Given the description of an element on the screen output the (x, y) to click on. 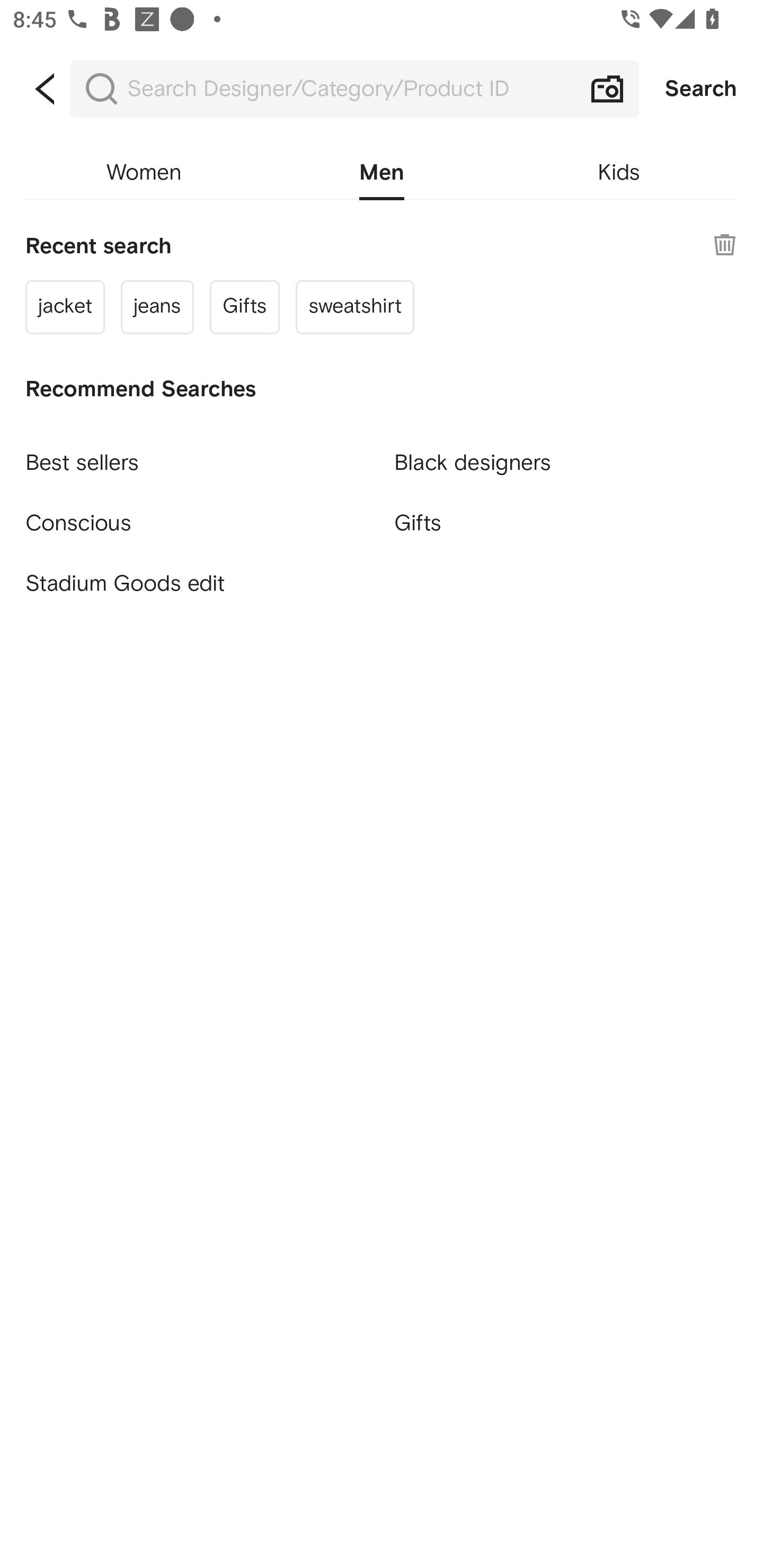
Search (701, 89)
Women (143, 172)
Kids (618, 172)
jacket (64, 306)
jeans (157, 306)
Gifts (244, 306)
sweatshirt (354, 306)
Best sellers (196, 454)
Black designers (565, 454)
Conscious (196, 514)
Gifts (565, 522)
Stadium Goods edit (196, 583)
